Given the description of an element on the screen output the (x, y) to click on. 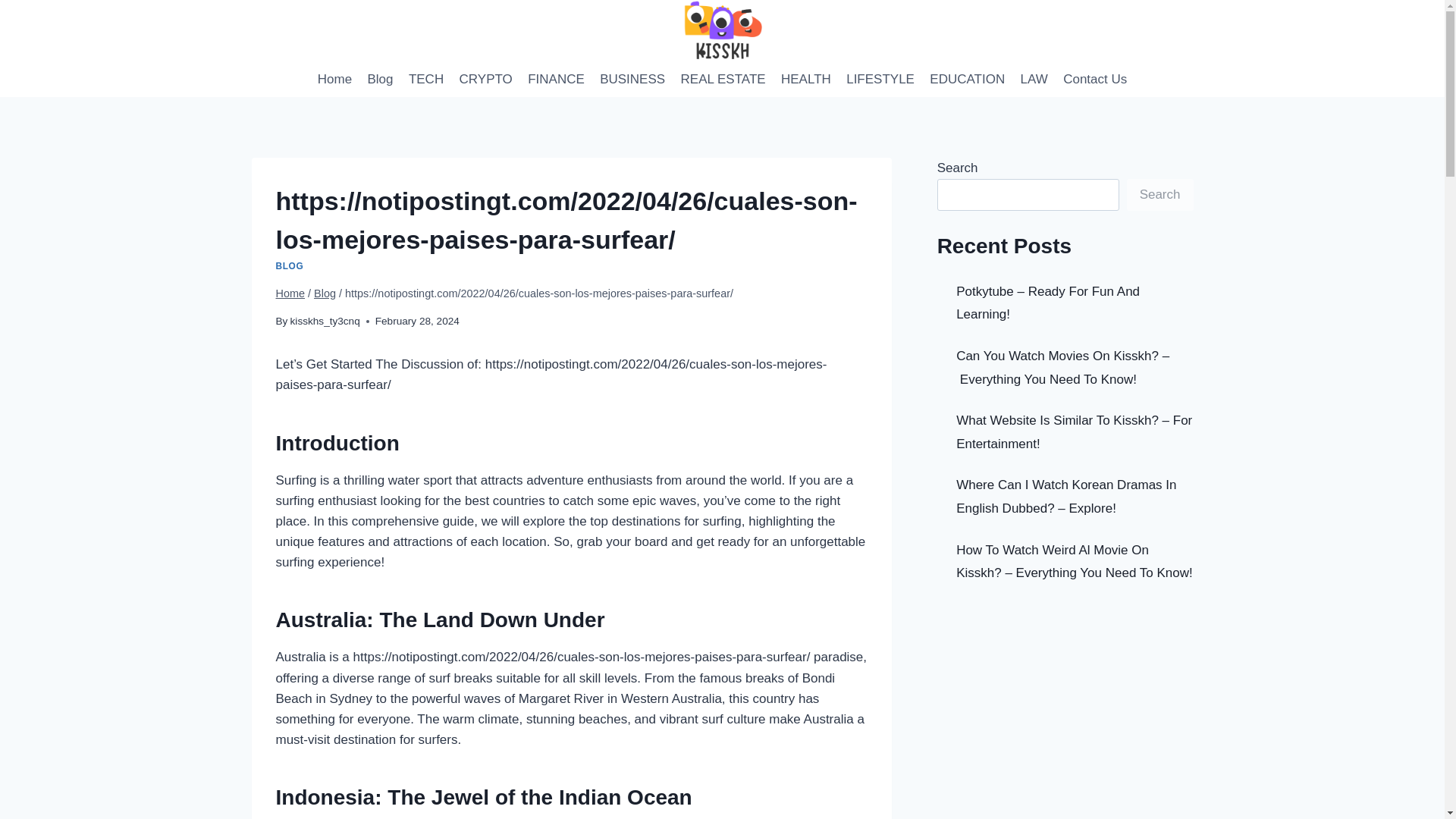
Blog (379, 79)
LIFESTYLE (879, 79)
CRYPTO (485, 79)
TECH (426, 79)
BUSINESS (632, 79)
HEALTH (805, 79)
Contact Us (1094, 79)
Blog (325, 293)
Home (334, 79)
EDUCATION (966, 79)
